Given the description of an element on the screen output the (x, y) to click on. 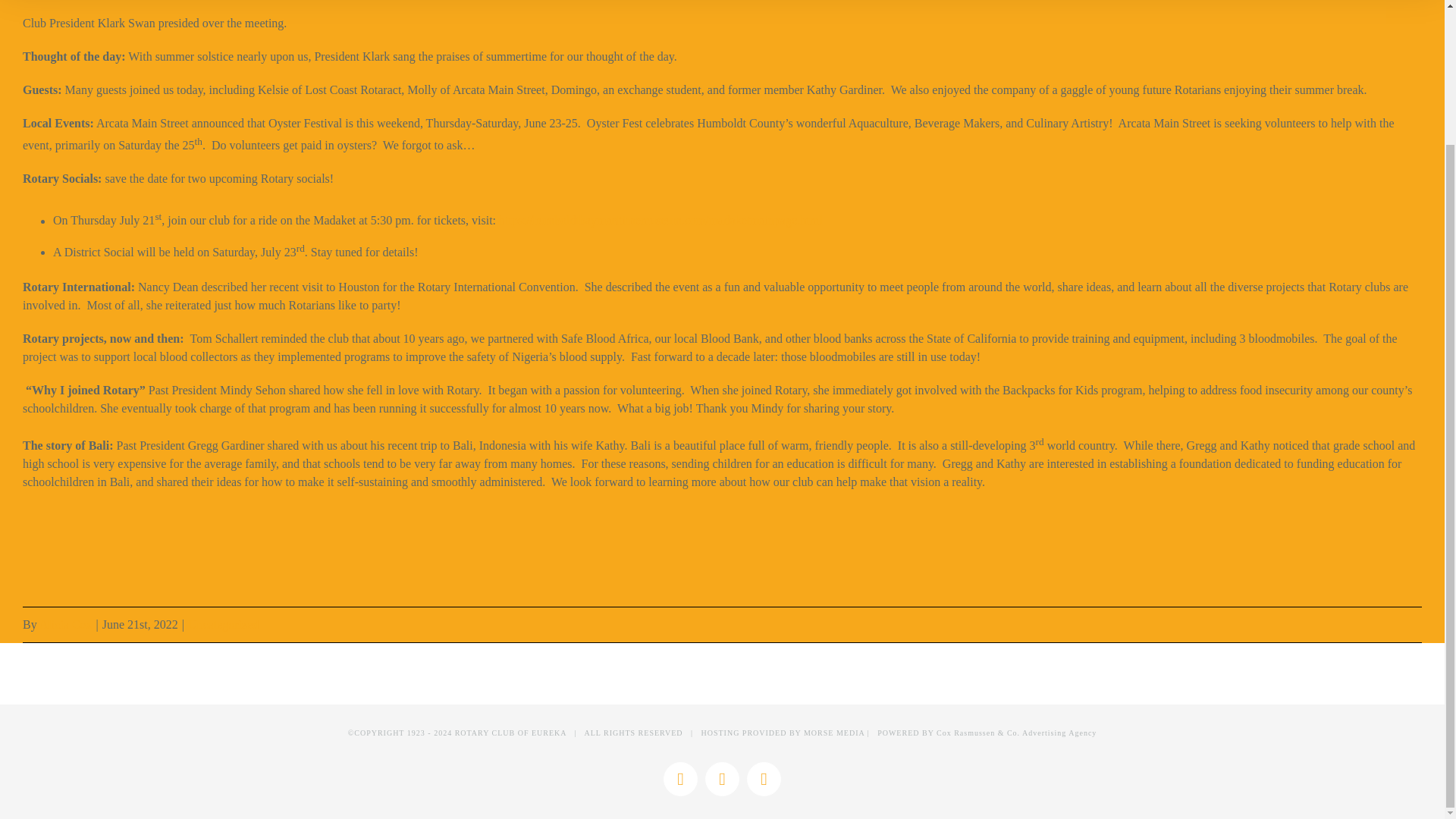
Facebook (680, 779)
YouTube (763, 779)
Instagram (721, 779)
Posts by Alicia Cox (66, 624)
